Given the description of an element on the screen output the (x, y) to click on. 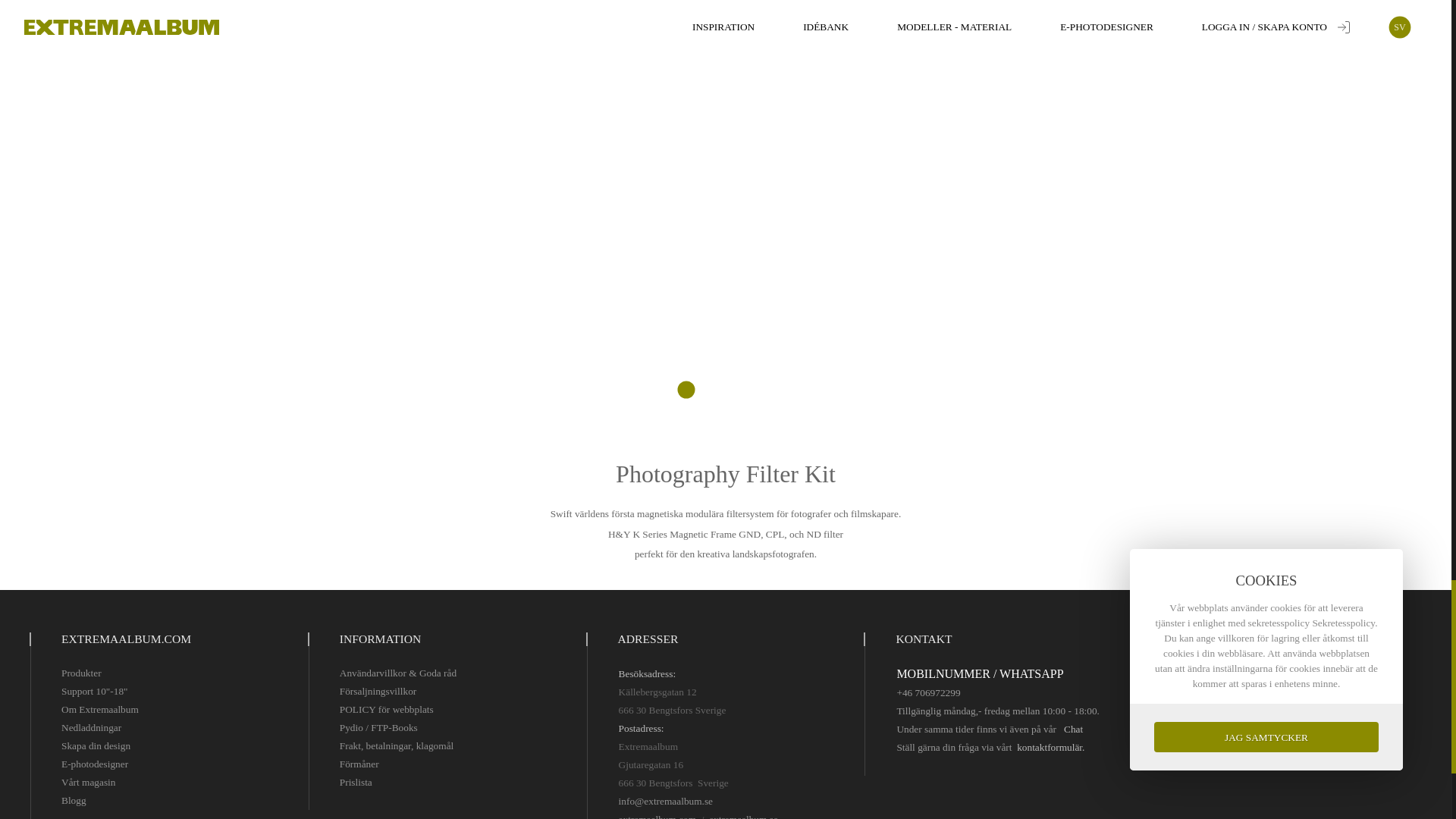
Support 10"-18" (94, 691)
Blogg (73, 800)
E-photodesigner (94, 764)
Produkter (81, 673)
Skapa din design (96, 746)
Nedladdningar (90, 728)
Om Extremaalbum (99, 710)
